Given the description of an element on the screen output the (x, y) to click on. 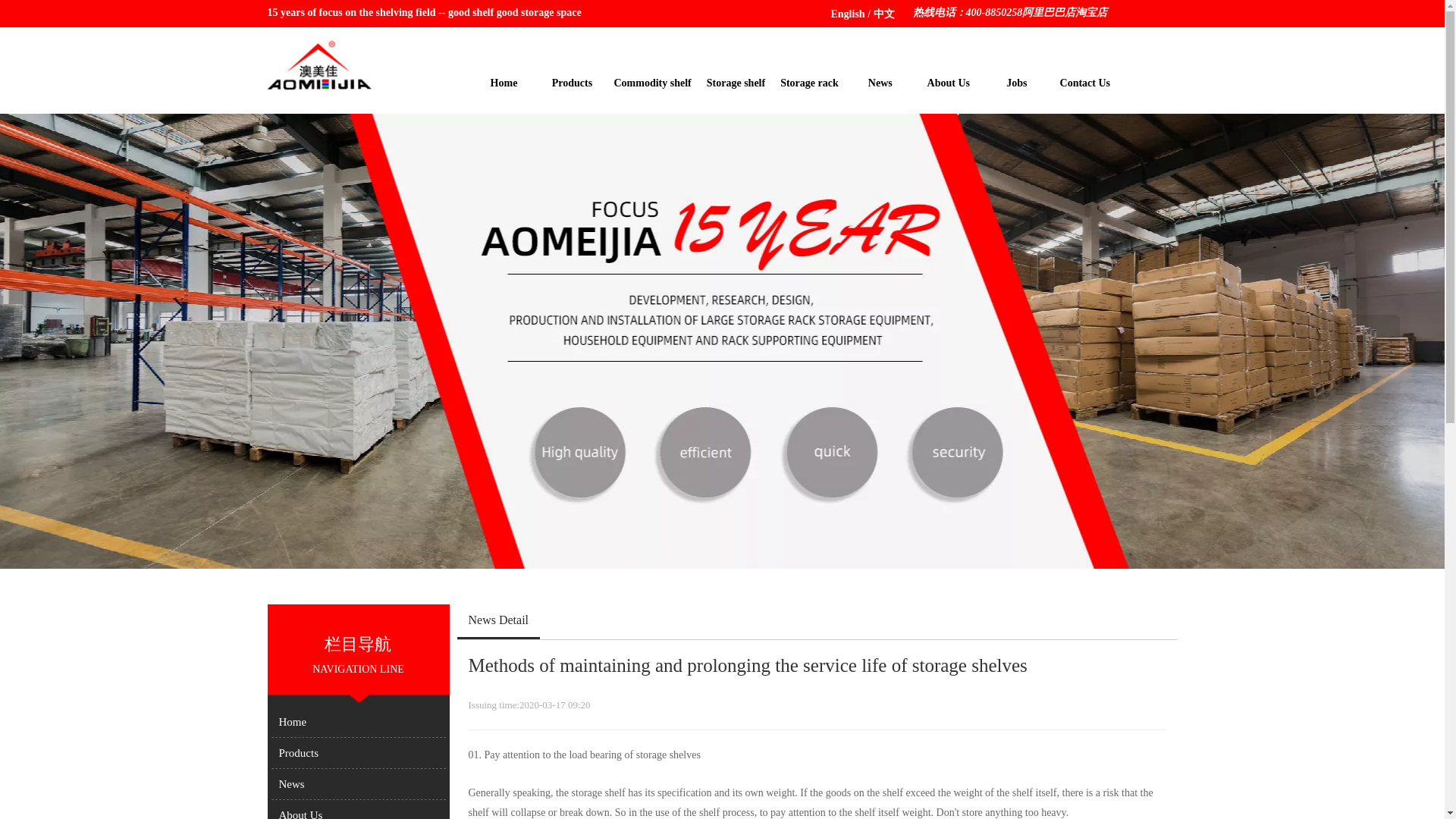
Products (572, 82)
Storage rack (809, 82)
Home (504, 82)
About Us (357, 811)
Jobs (1016, 82)
Products (357, 753)
Contact Us (1085, 82)
News (357, 783)
Storage shelf (735, 82)
English (847, 13)
